Given the description of an element on the screen output the (x, y) to click on. 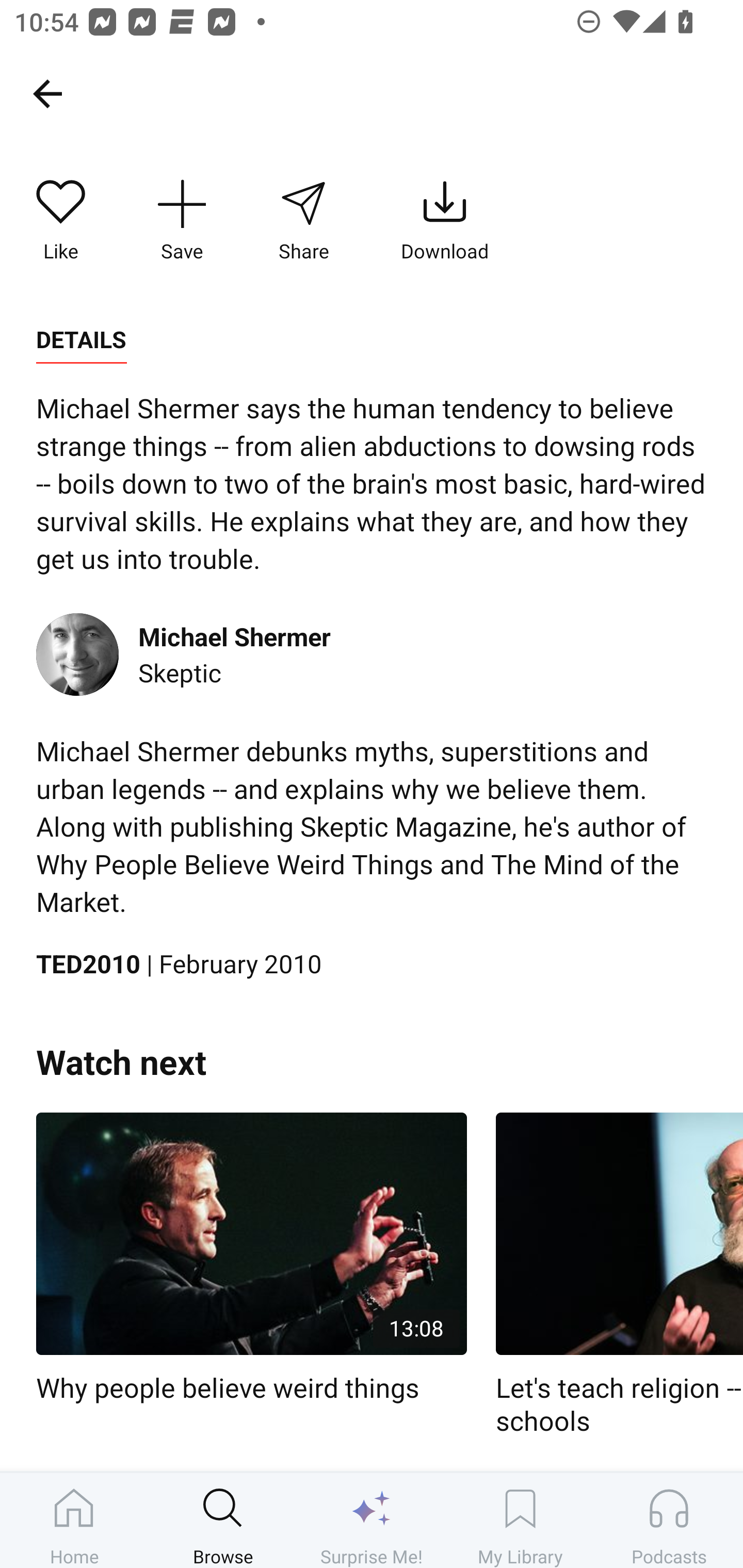
Search, back (47, 92)
Like (60, 220)
Save (181, 220)
Share (302, 220)
Download (444, 220)
DETAILS (80, 339)
13:08 Why people believe weird things (251, 1258)
Home (74, 1520)
Browse (222, 1520)
Surprise Me! (371, 1520)
My Library (519, 1520)
Podcasts (668, 1520)
